Given the description of an element on the screen output the (x, y) to click on. 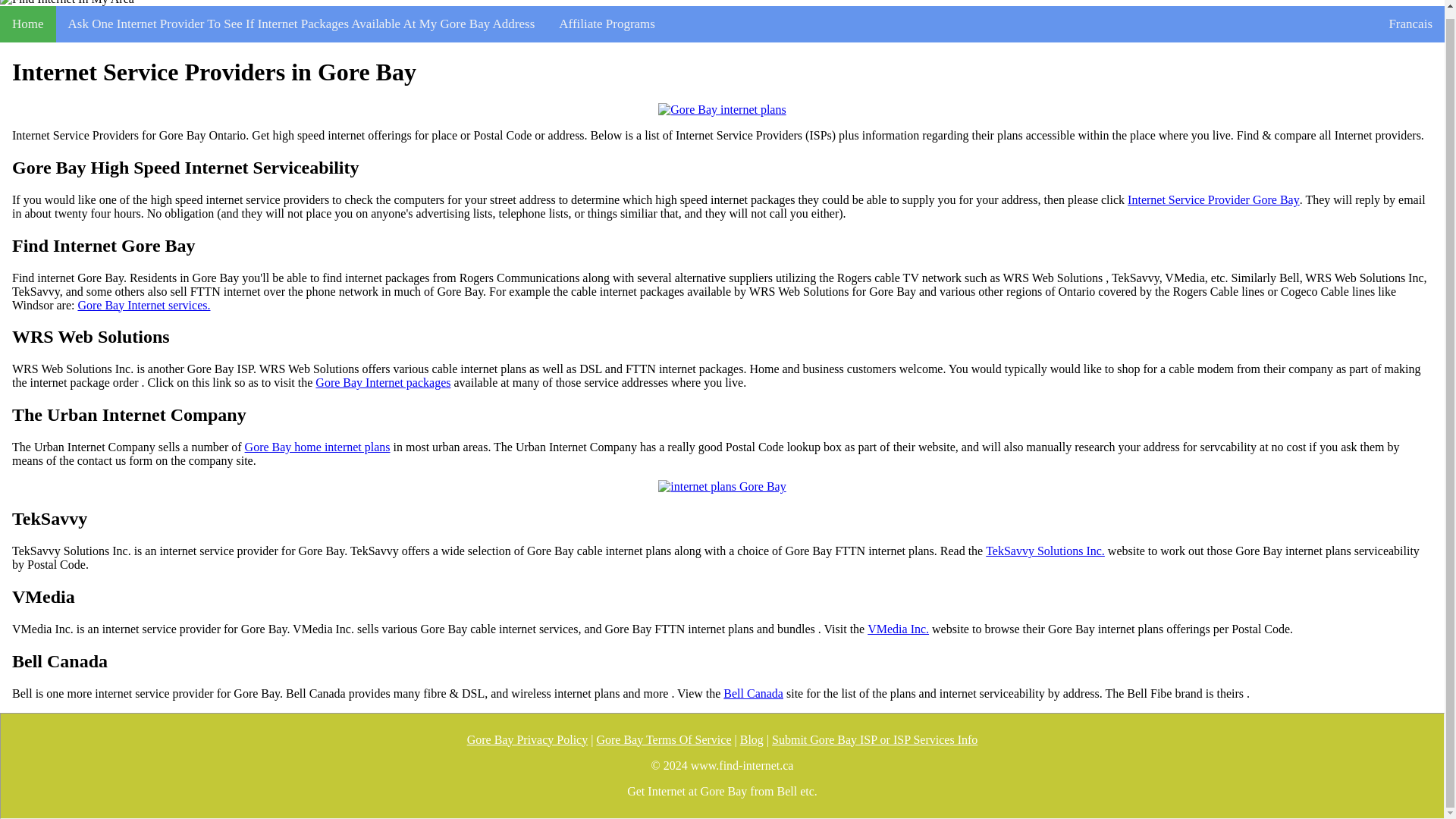
Submit Gore Bay ISP or ISP Services Info (873, 739)
Gore Bay Privacy Policy (527, 739)
Affiliate Programs (606, 23)
VMedia Inc. (897, 629)
Bell Canada (753, 694)
Home (28, 23)
Gore Bay home internet plans (317, 447)
Blog (750, 739)
Gore Bay Internet services. (143, 305)
TekSavvy Solutions Inc. (1045, 550)
Gore Bay Internet packages (382, 382)
Gore Bay Terms Of Service (662, 739)
Internet Service Provider Gore Bay (1213, 200)
